Given the description of an element on the screen output the (x, y) to click on. 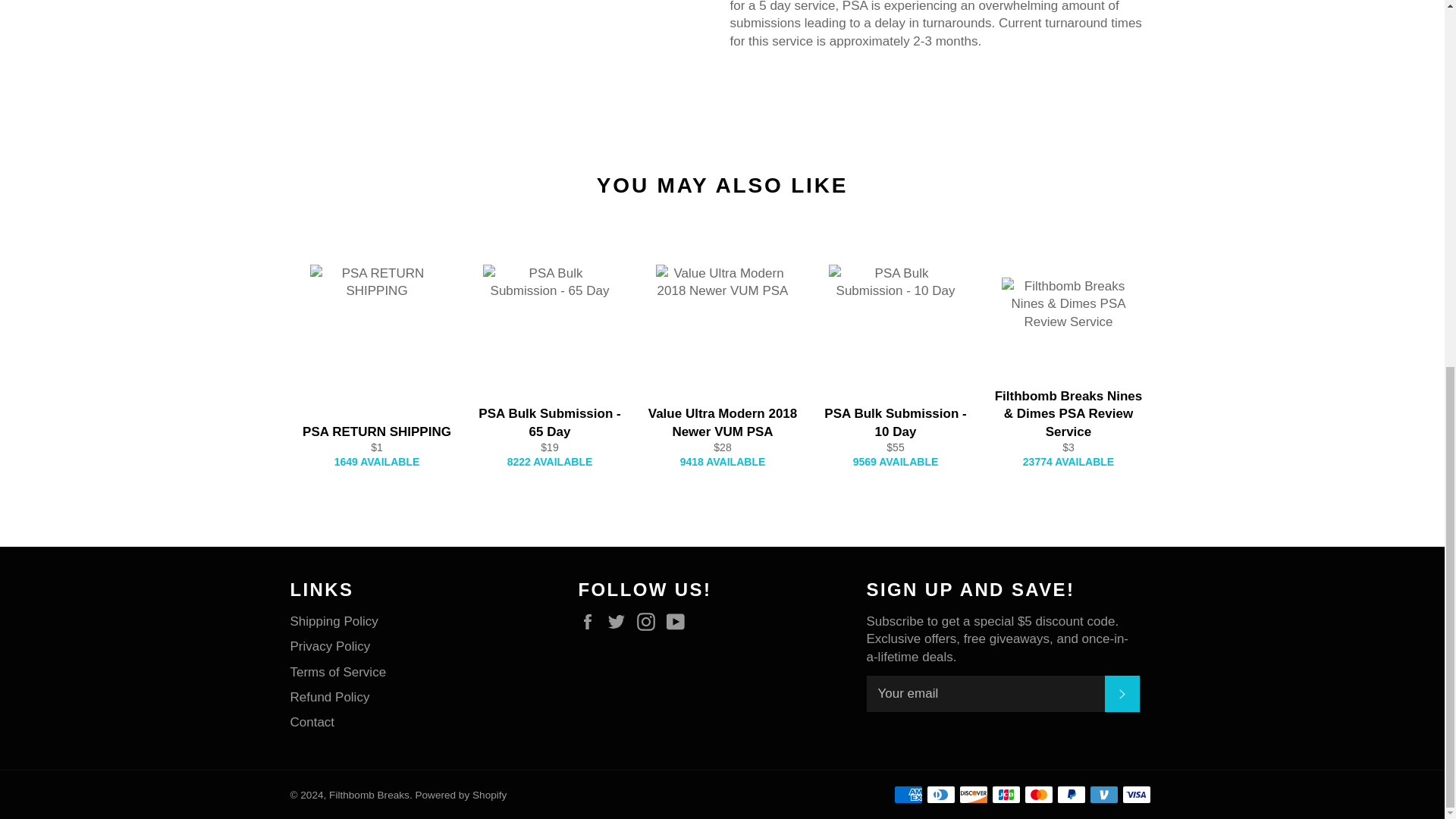
Filthbomb Breaks on YouTube (679, 621)
Filthbomb Breaks on Facebook (591, 621)
Filthbomb Breaks on Twitter (620, 621)
Filthbomb Breaks on Instagram (649, 621)
